Given the description of an element on the screen output the (x, y) to click on. 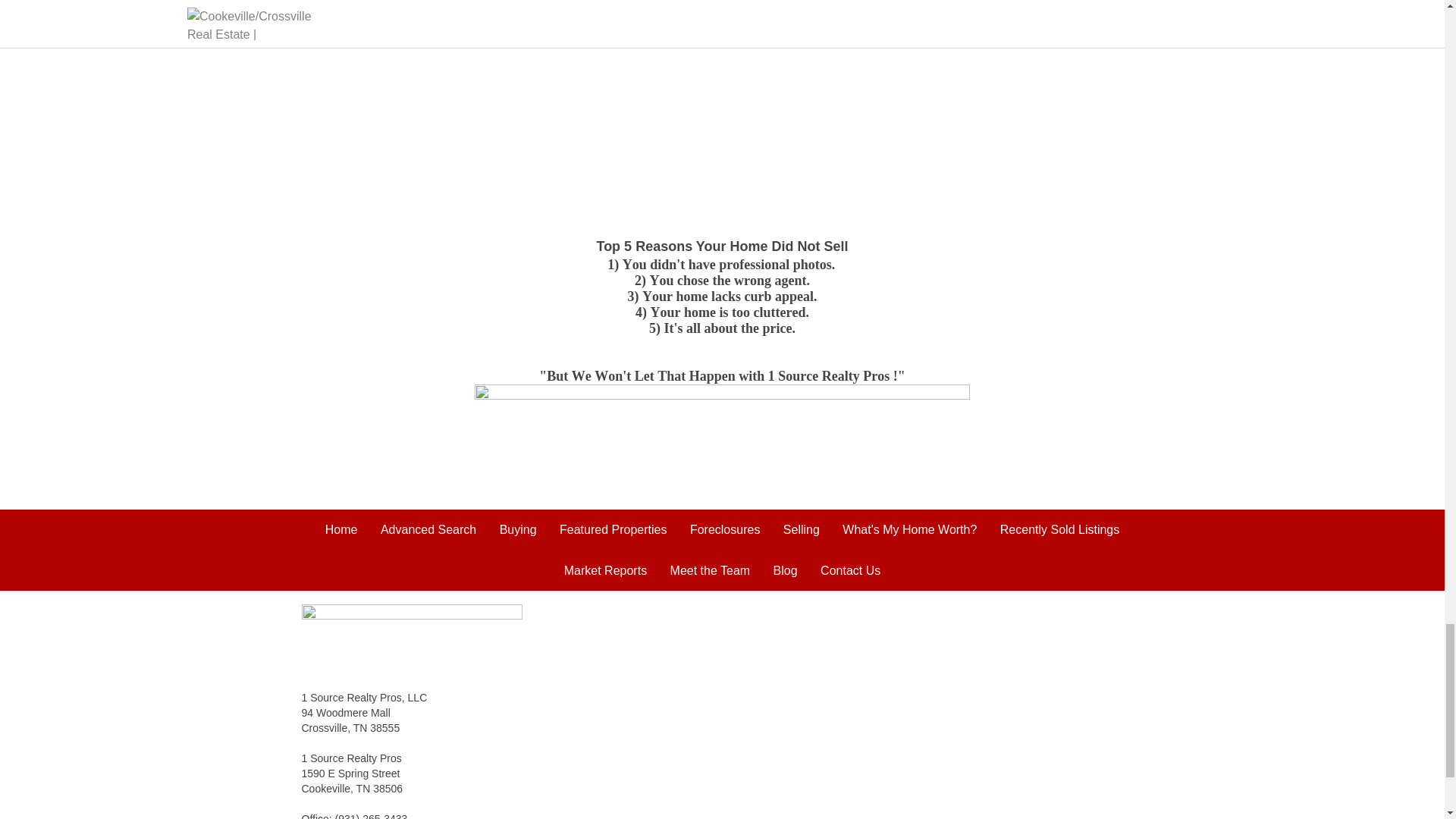
Contact Us (850, 570)
Home (341, 529)
Meet the Team (710, 570)
Selling (801, 529)
Blog (785, 570)
Foreclosures (725, 529)
What's My Home Worth? (909, 529)
Featured Properties (612, 529)
Advanced Search (428, 529)
Market Reports (605, 570)
Buying (518, 529)
Recently Sold Listings (1059, 529)
